Given the description of an element on the screen output the (x, y) to click on. 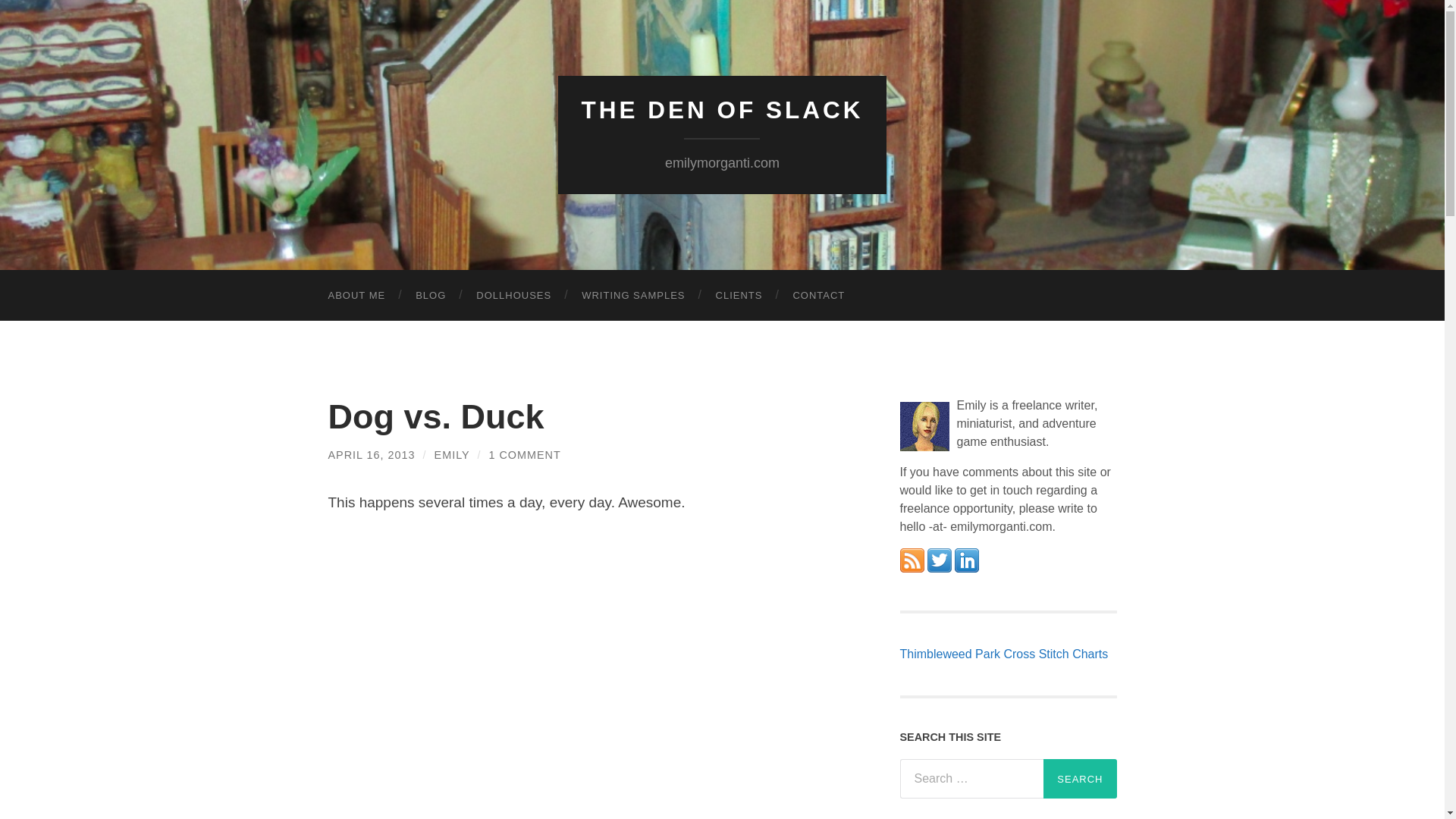
CONTACT (818, 295)
ABOUT ME (356, 295)
DOLLHOUSES (513, 295)
Thimbleweed Park Cross Stitch Charts (1003, 653)
Search (1079, 778)
APRIL 16, 2013 (370, 454)
THE DEN OF SLACK (721, 109)
BLOG (430, 295)
WRITING SAMPLES (633, 295)
Search (1079, 778)
